Given the description of an element on the screen output the (x, y) to click on. 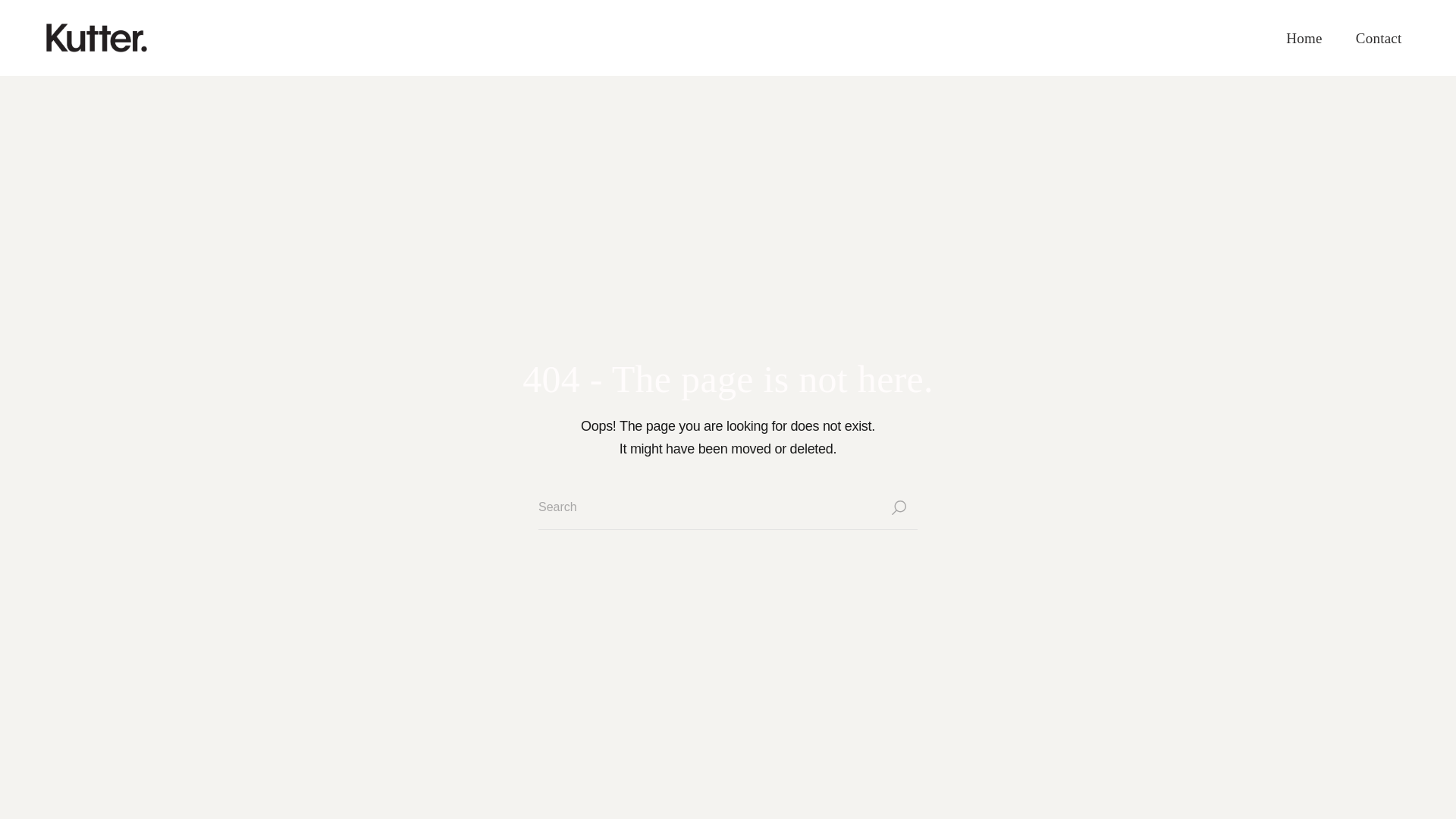
Home Element type: text (1303, 37)
Contact Element type: text (1378, 37)
